Given the description of an element on the screen output the (x, y) to click on. 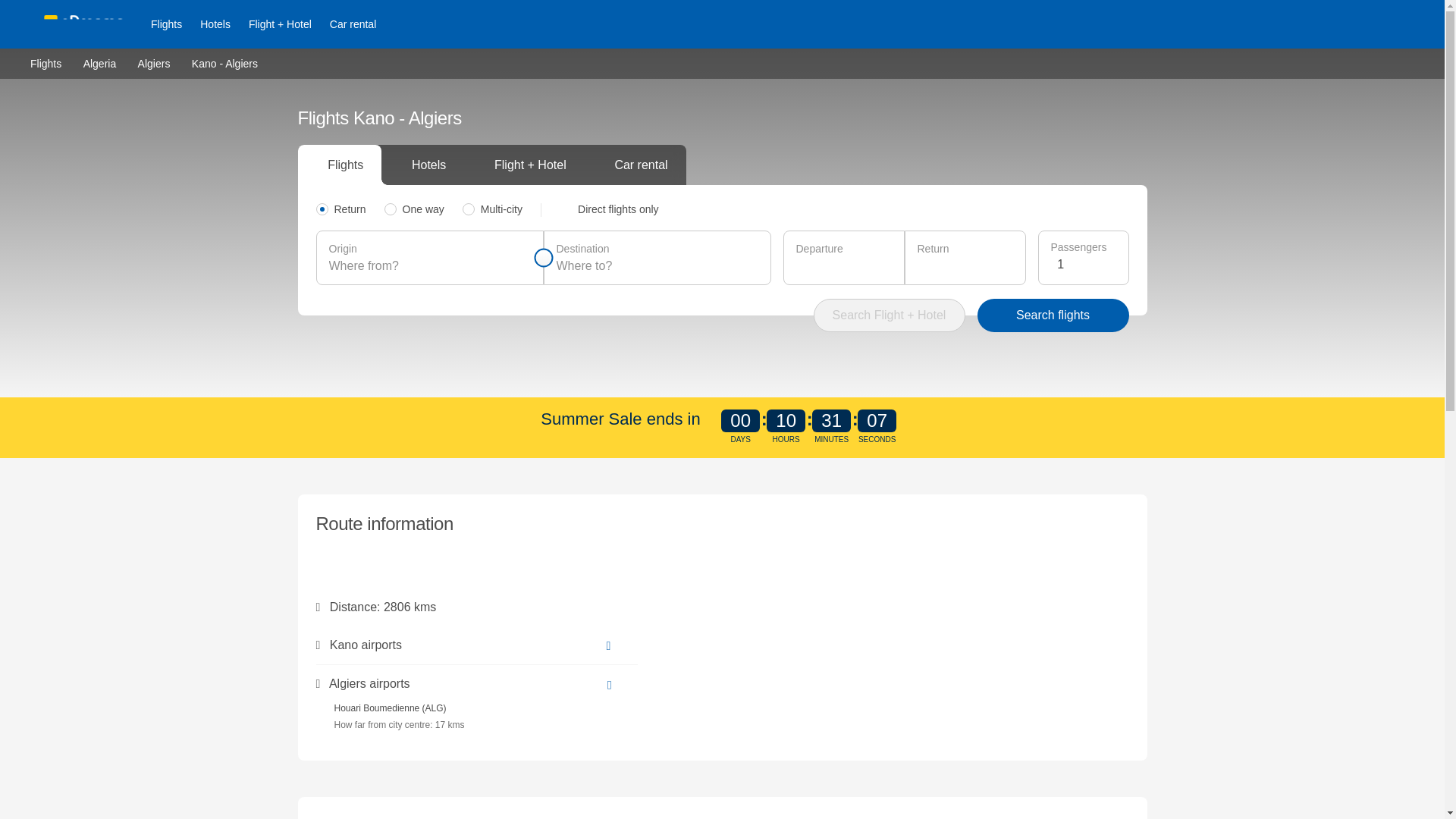
Kano - Algiers (224, 63)
Car rental (352, 24)
Flights (165, 24)
Algiers (154, 62)
1 (1086, 263)
Algeria (99, 62)
Search flights (1052, 315)
Hotels (215, 24)
Flights (45, 62)
